Given the description of an element on the screen output the (x, y) to click on. 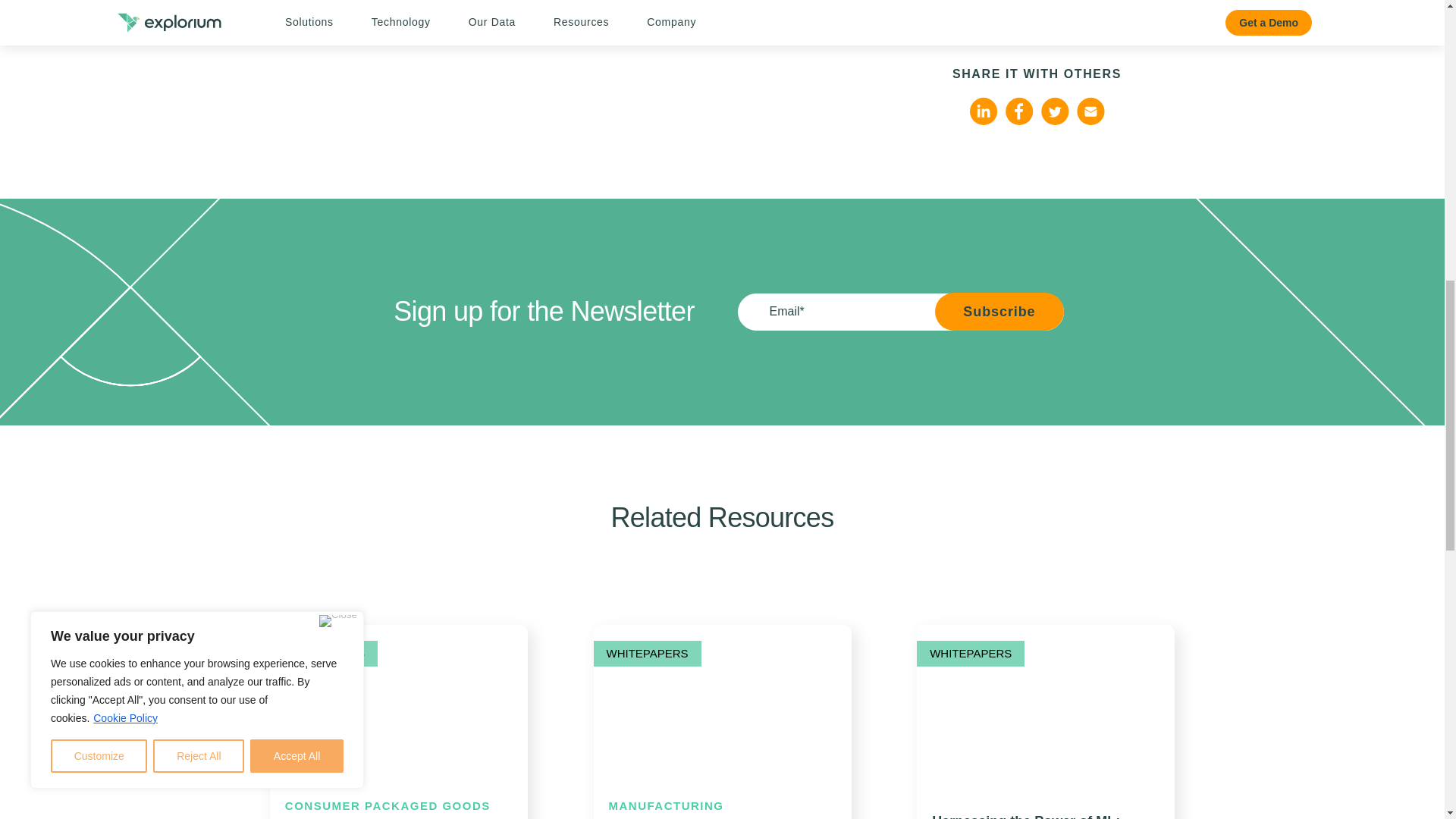
Subscribe (998, 311)
